Given the description of an element on the screen output the (x, y) to click on. 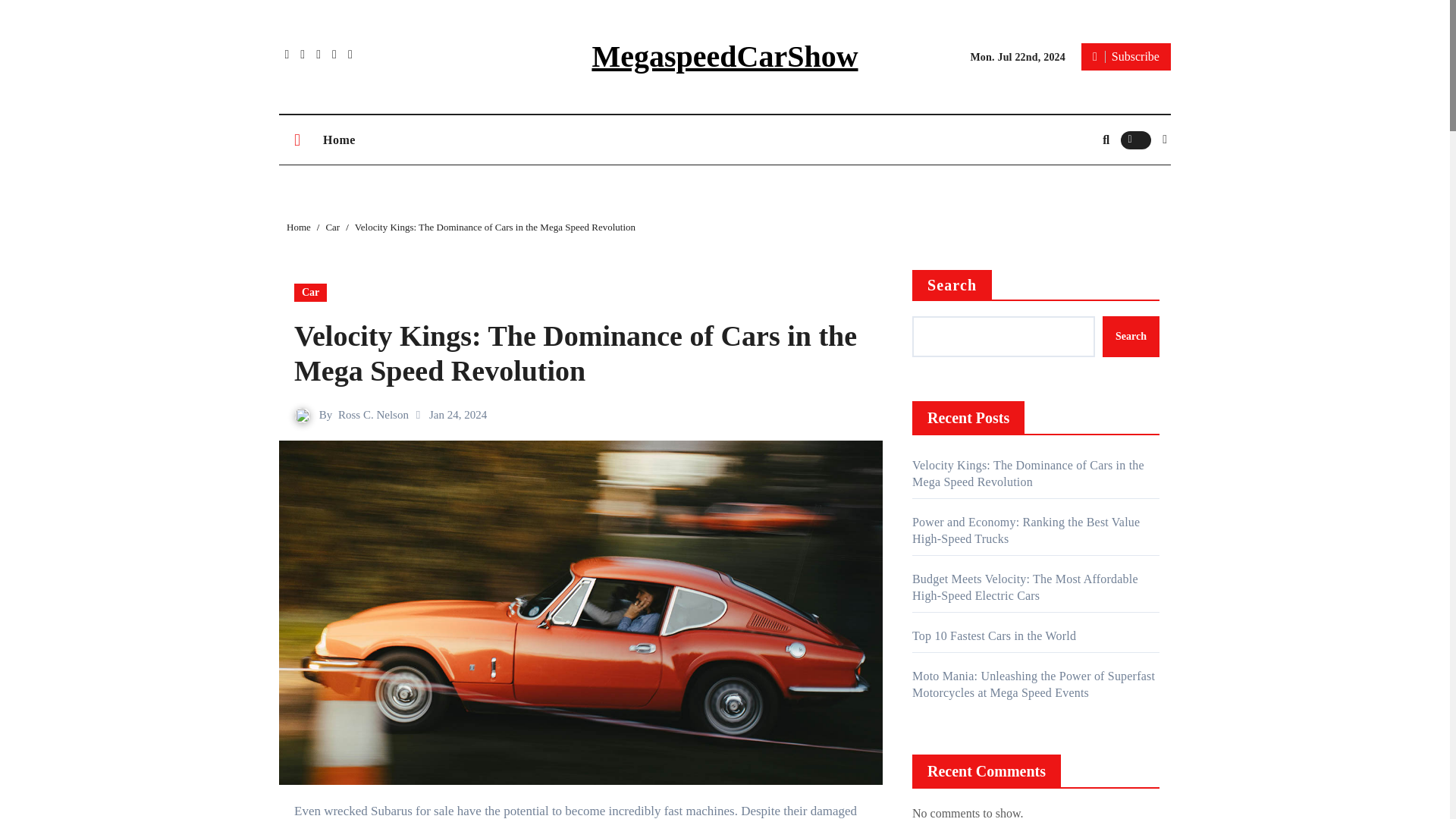
Home (298, 226)
Home (338, 139)
Home (338, 139)
Car (331, 226)
Subscribe (1125, 56)
MegaspeedCarShow (724, 56)
Car (310, 292)
Ross C. Nelson (373, 413)
